Given the description of an element on the screen output the (x, y) to click on. 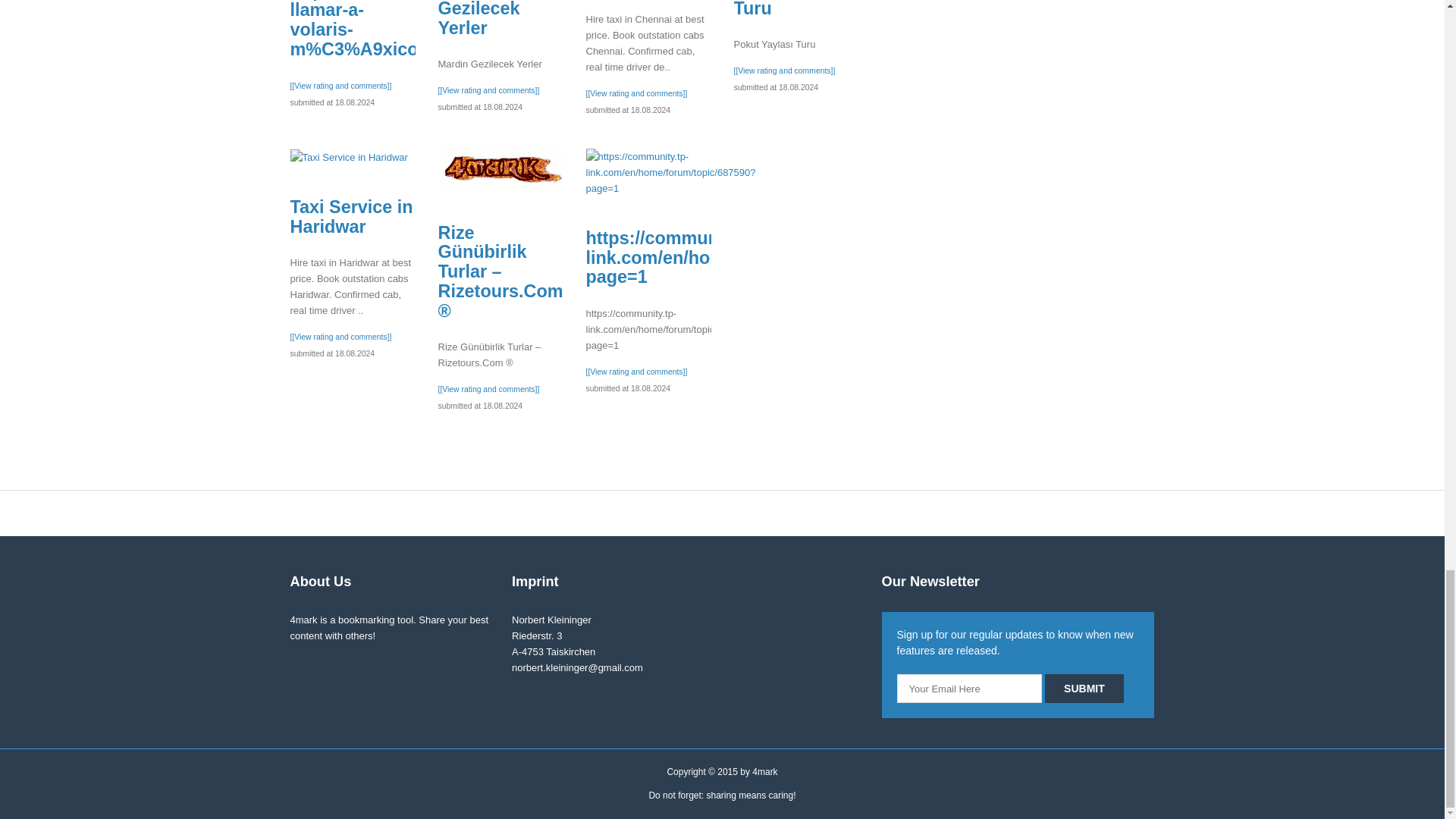
Submit (1084, 688)
Email (969, 688)
Taxi Service in Haridwar (348, 157)
